Given the description of an element on the screen output the (x, y) to click on. 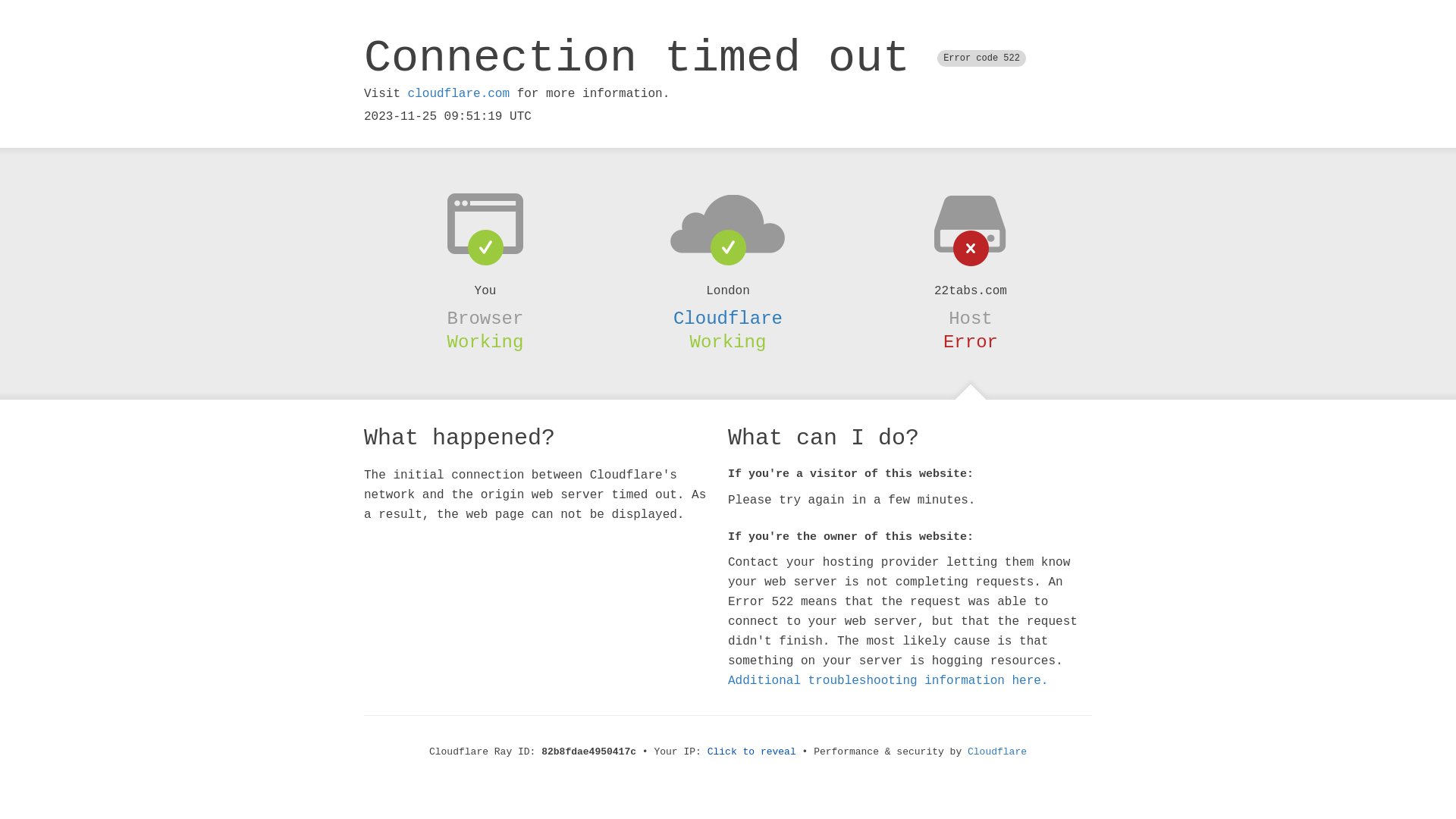
Cloudflare Element type: text (727, 318)
cloudflare.com Element type: text (458, 93)
Click to reveal Element type: text (751, 751)
Additional troubleshooting information here. Element type: text (888, 680)
Cloudflare Element type: text (996, 751)
